Given the description of an element on the screen output the (x, y) to click on. 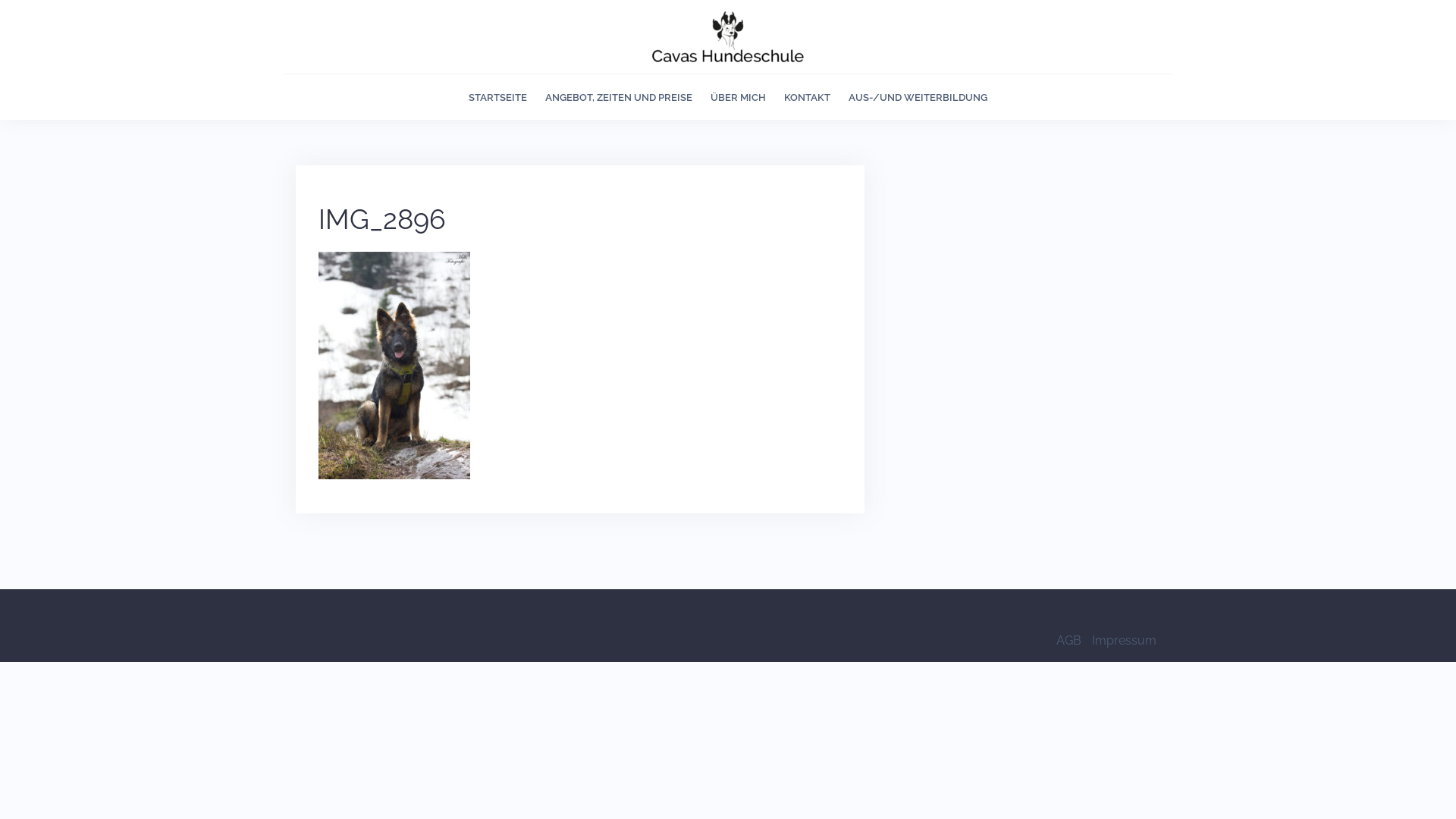
STARTSEITE Element type: text (497, 97)
Impressum Element type: text (1124, 640)
AUS-/UND WEITERBILDUNG Element type: text (917, 97)
AGB Element type: text (1068, 640)
KONTAKT Element type: text (807, 97)
ANGEBOT, ZEITEN UND PREISE Element type: text (618, 97)
